Given the description of an element on the screen output the (x, y) to click on. 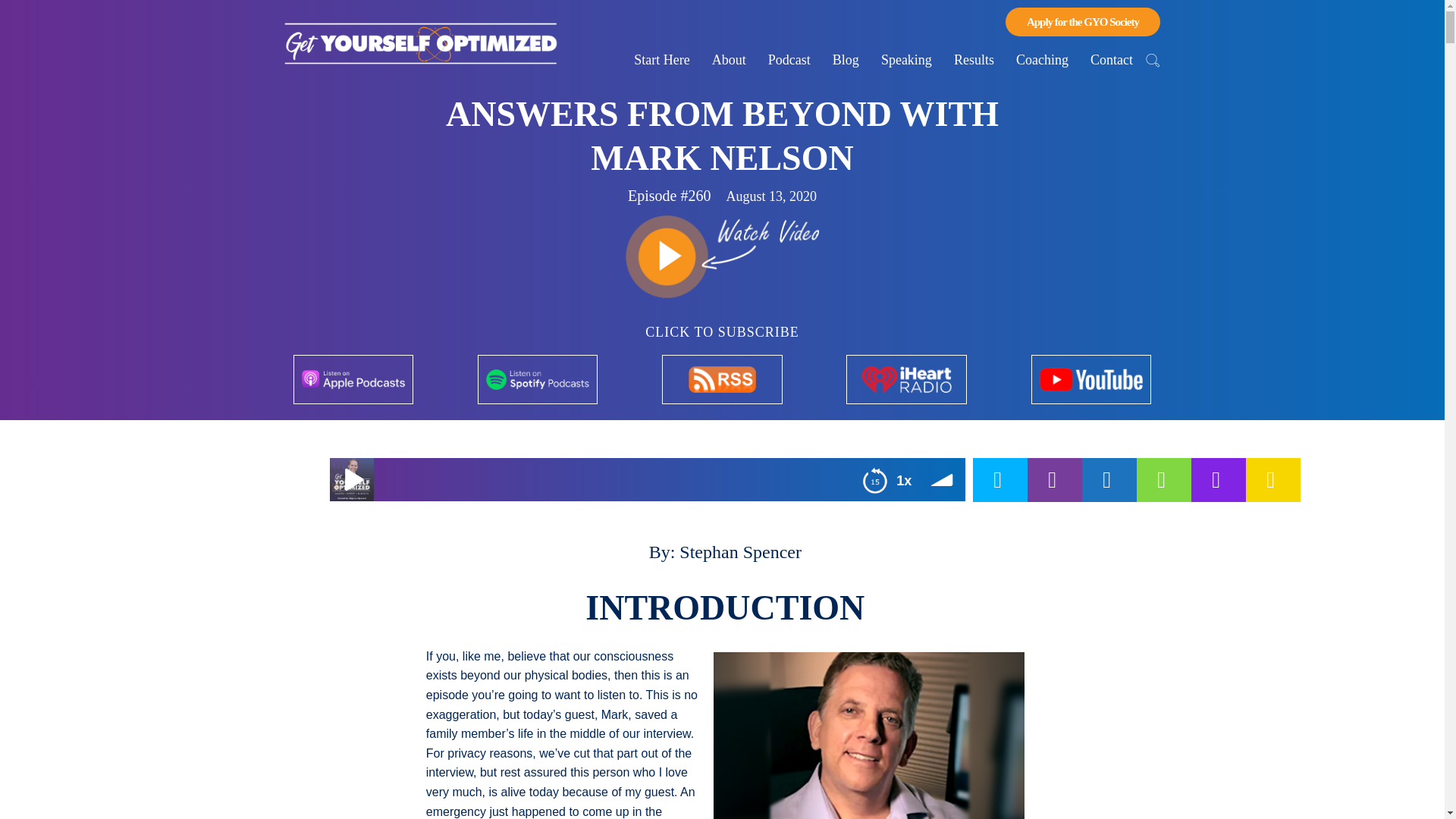
Coaching (1042, 60)
Download (1087, 479)
About (729, 60)
Blog (845, 60)
Contact (1111, 60)
Results (973, 60)
Podcast (788, 60)
Apple Podcasts (27, 479)
Start Here (661, 60)
Share (999, 479)
